Given the description of an element on the screen output the (x, y) to click on. 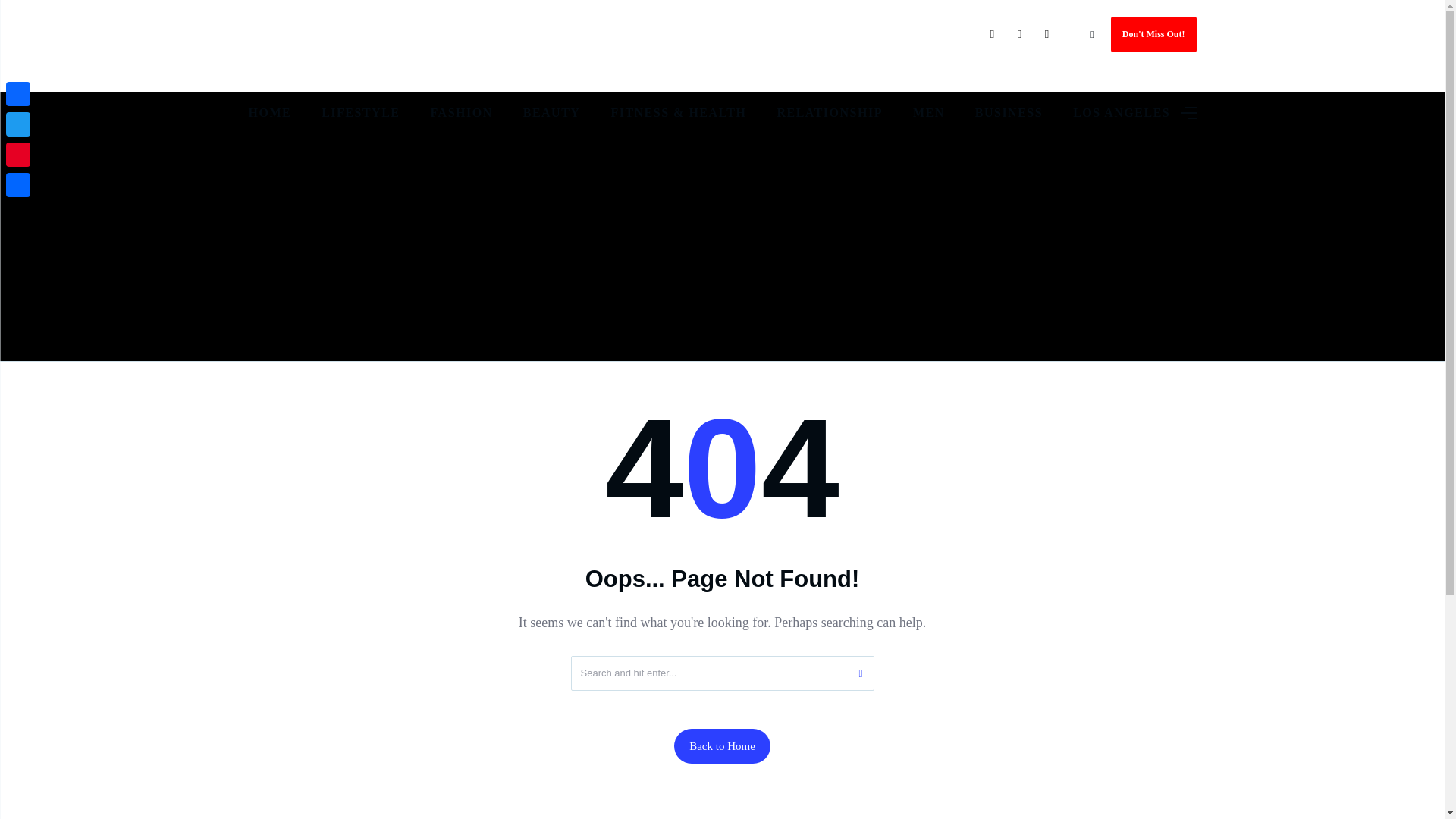
Pinterest (17, 154)
Facebook (17, 93)
Twitter (17, 123)
